Given the description of an element on the screen output the (x, y) to click on. 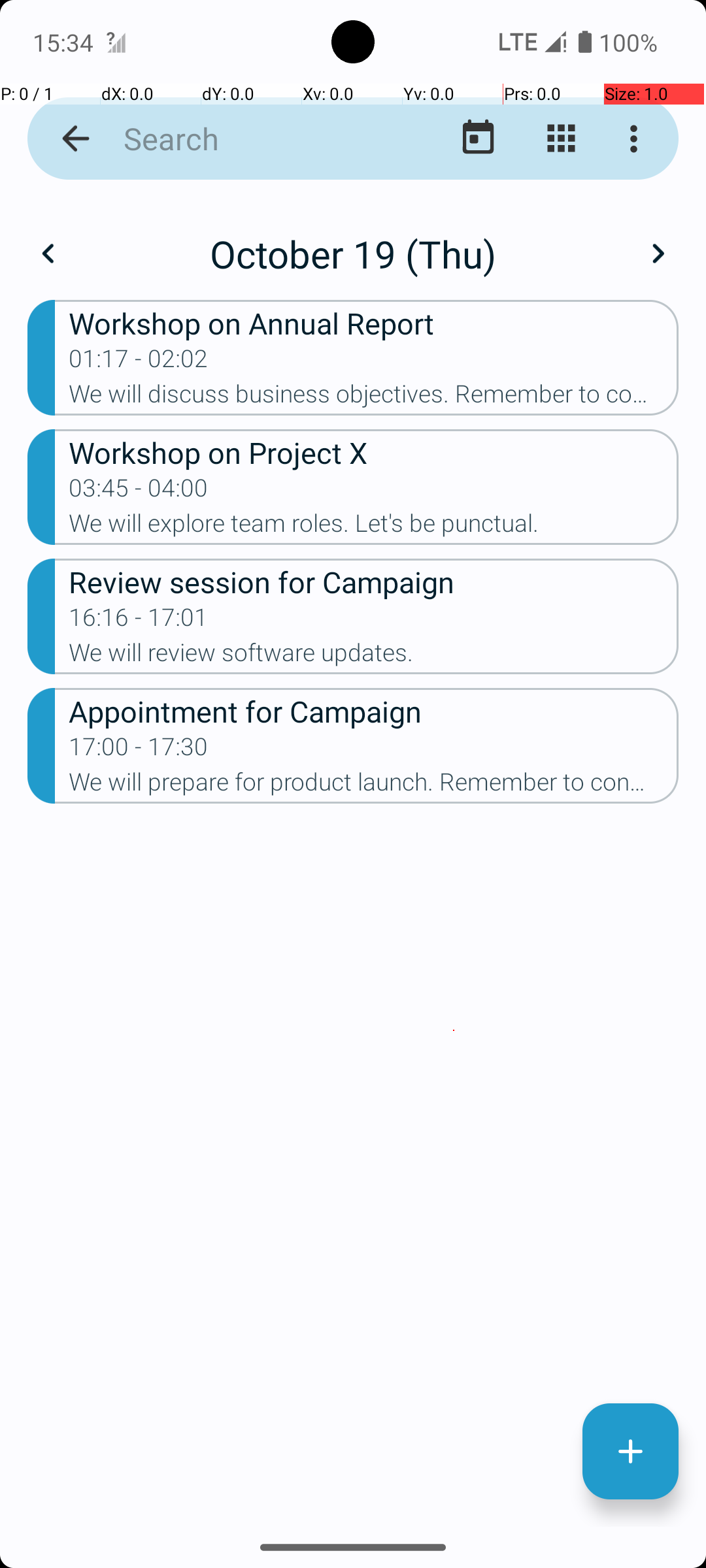
October 19 (Thu) Element type: android.widget.TextView (352, 253)
01:17 - 02:02 Element type: android.widget.TextView (137, 362)
We will discuss business objectives. Remember to confirm attendance. Element type: android.widget.TextView (373, 397)
Workshop on Project X Element type: android.widget.TextView (373, 451)
03:45 - 04:00 Element type: android.widget.TextView (137, 491)
We will explore team roles. Let's be punctual. Element type: android.widget.TextView (373, 526)
16:16 - 17:01 Element type: android.widget.TextView (137, 620)
We will review software updates. Element type: android.widget.TextView (373, 656)
17:00 - 17:30 Element type: android.widget.TextView (137, 750)
We will prepare for product launch. Remember to confirm attendance. Element type: android.widget.TextView (373, 785)
